Given the description of an element on the screen output the (x, y) to click on. 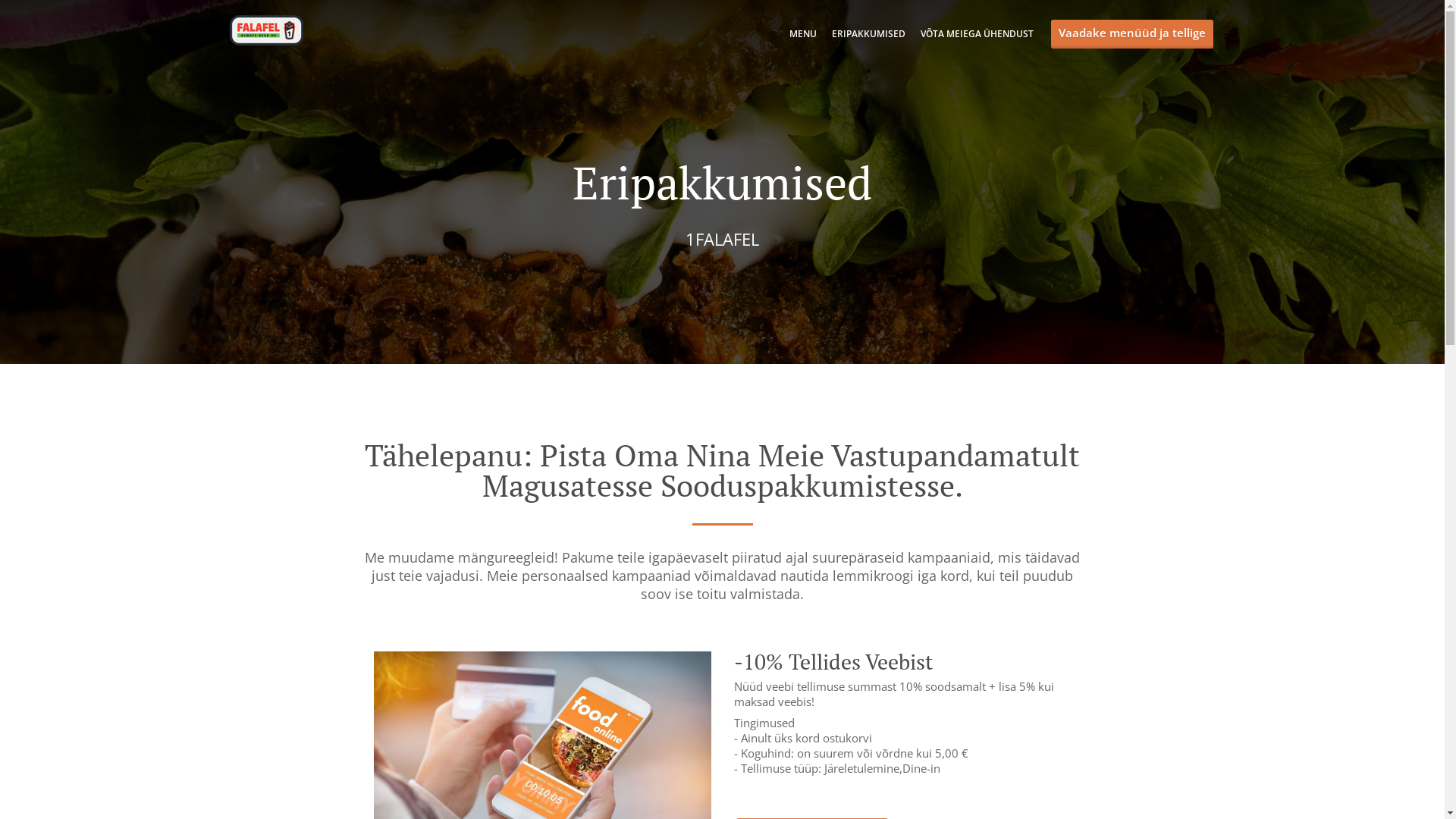
ERIPAKKUMISED Element type: text (867, 33)
MENU Element type: text (801, 33)
